Given the description of an element on the screen output the (x, y) to click on. 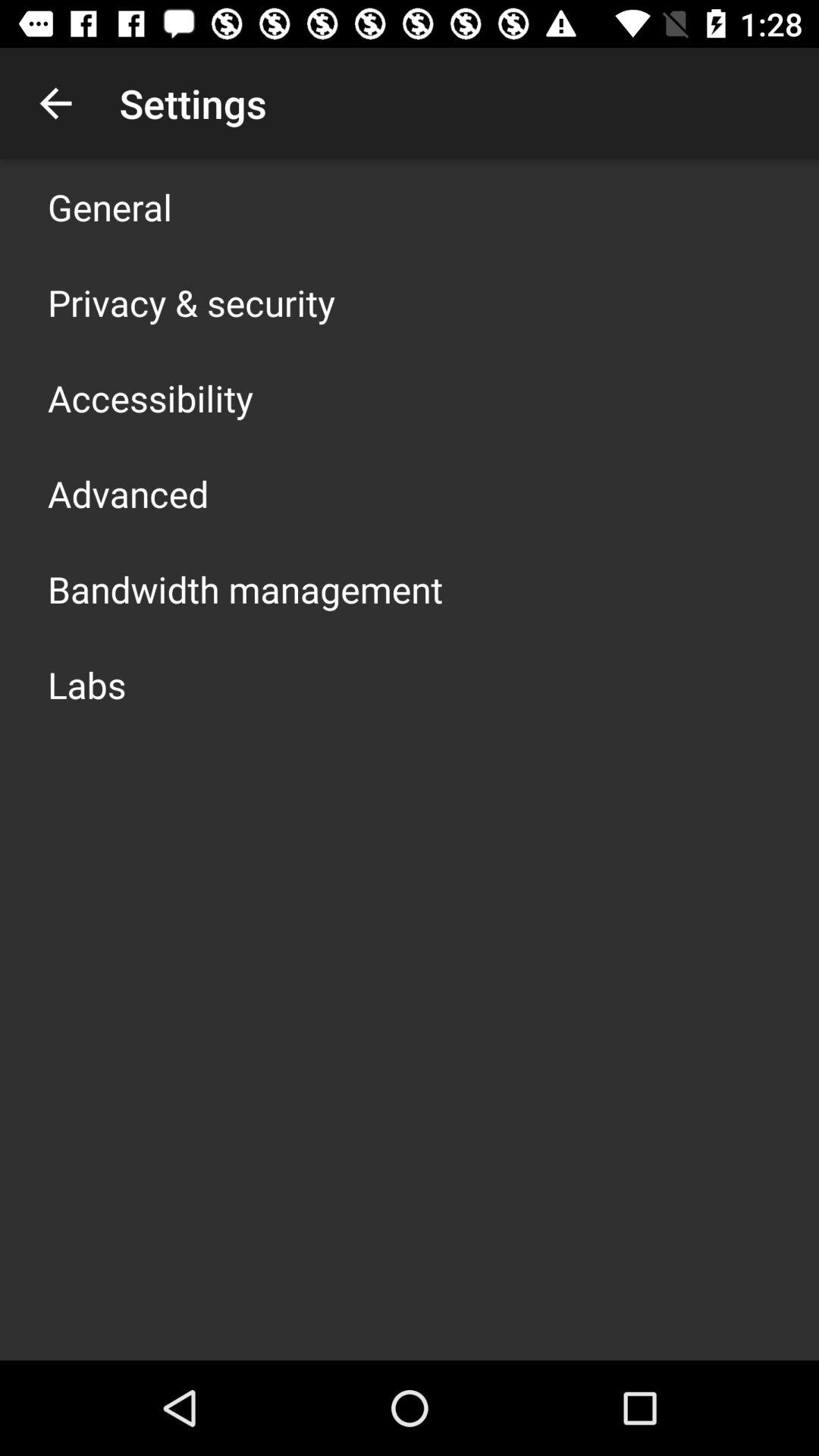
jump to the privacy & security (190, 302)
